Given the description of an element on the screen output the (x, y) to click on. 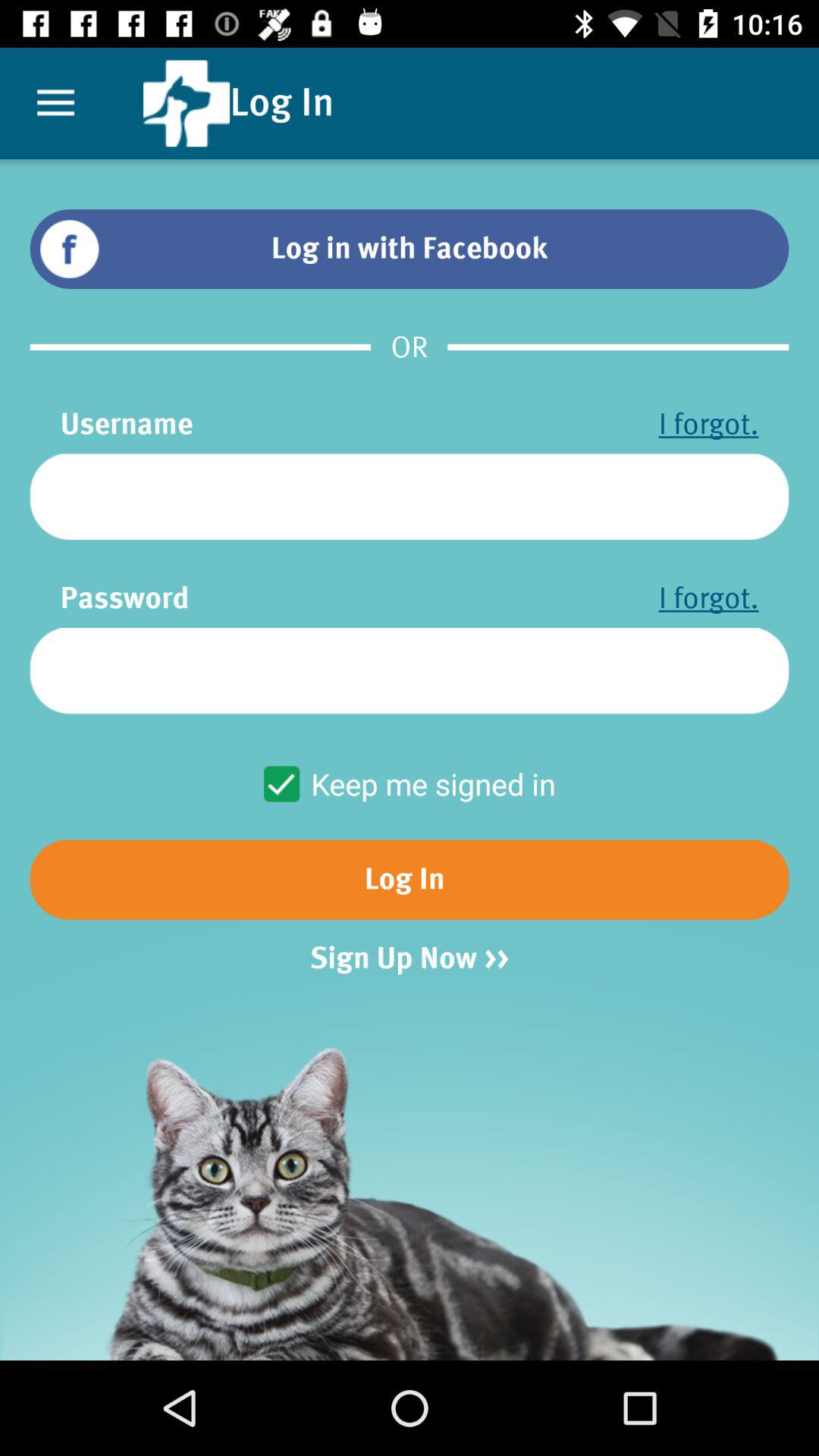
turn on item below password icon (409, 670)
